Given the description of an element on the screen output the (x, y) to click on. 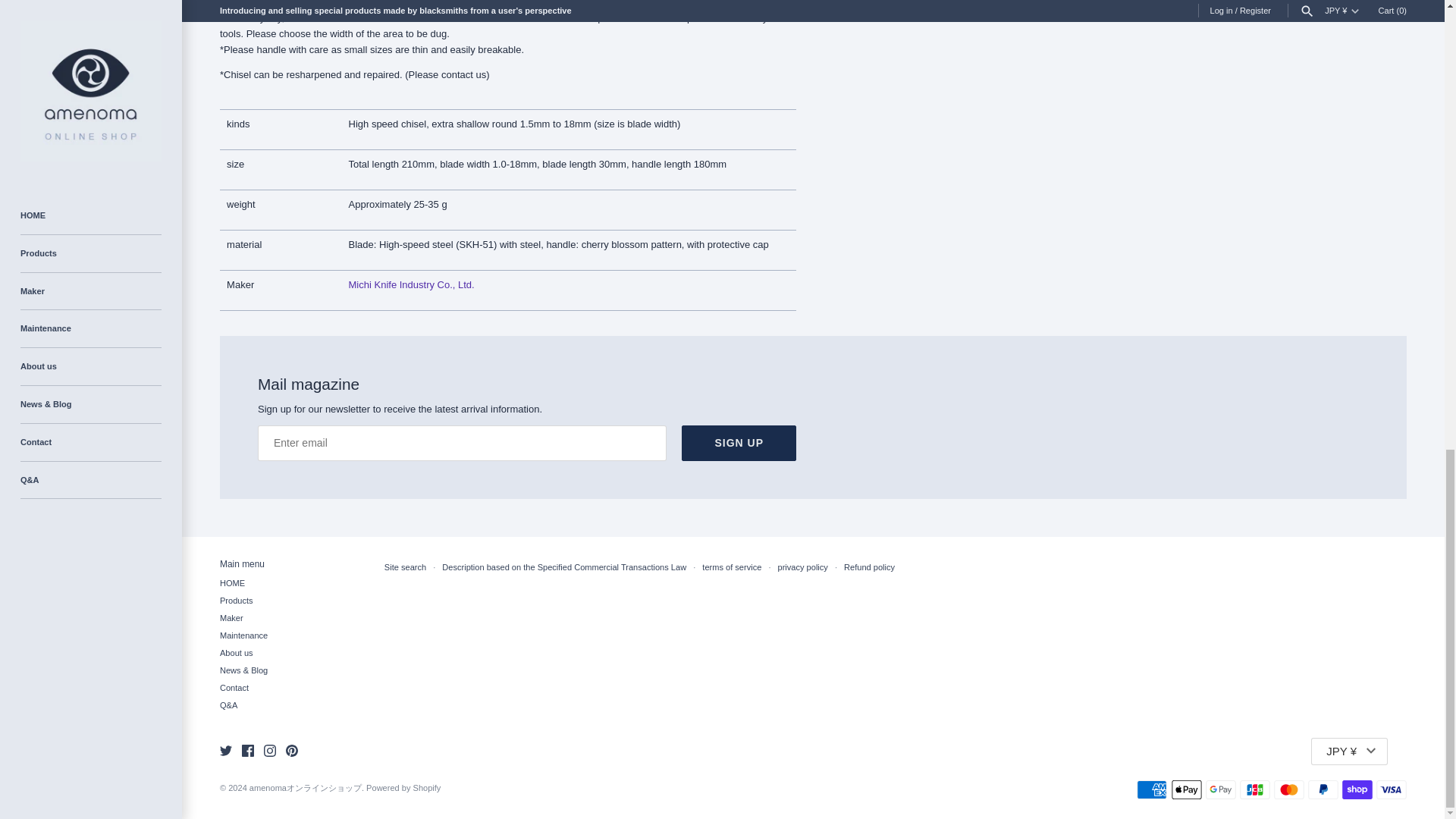
Facebook (247, 750)
Twitter (225, 750)
Instagram (269, 750)
PayPal (1322, 789)
Pinterest (291, 750)
Apple Pay (1187, 789)
Visa (1390, 789)
Mastercard (1289, 789)
JCB (1254, 789)
Shop Pay (1357, 789)
Google Pay (1220, 789)
American Express (1152, 789)
